Given the description of an element on the screen output the (x, y) to click on. 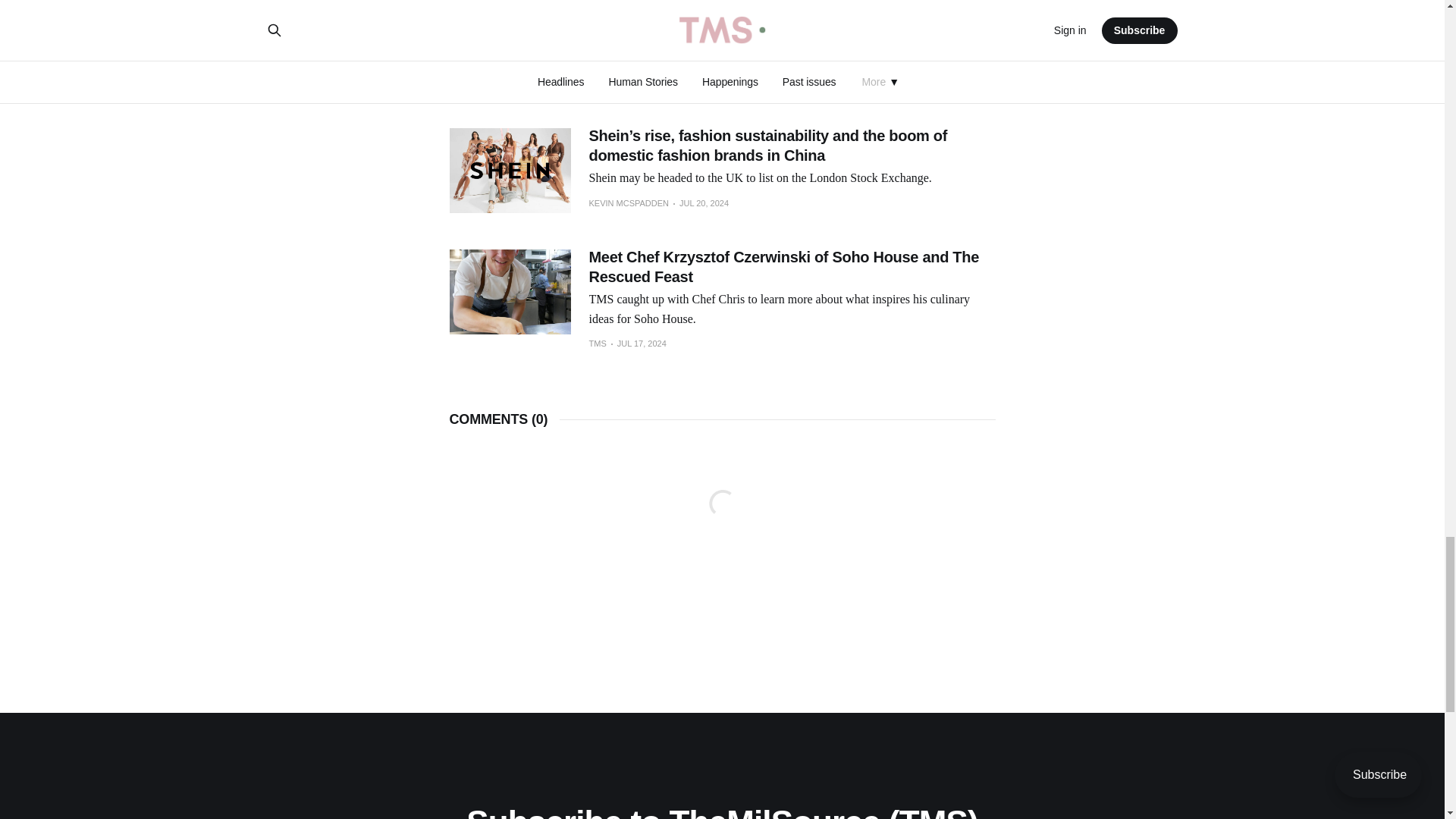
comments-frame (721, 521)
